Given the description of an element on the screen output the (x, y) to click on. 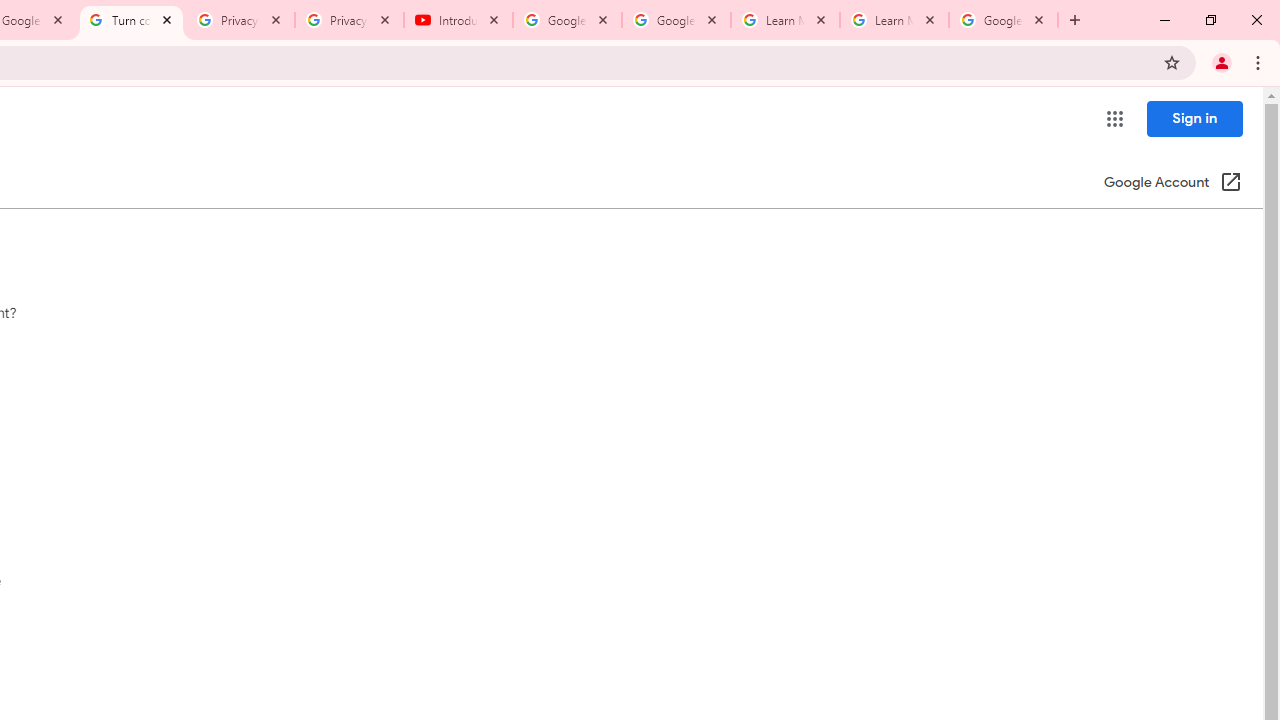
Google Account Help (567, 20)
Google Account (Open in a new window) (1172, 183)
Google Account Help (676, 20)
Google Account (1003, 20)
Turn cookies on or off - Computer - Google Account Help (130, 20)
